Given the description of an element on the screen output the (x, y) to click on. 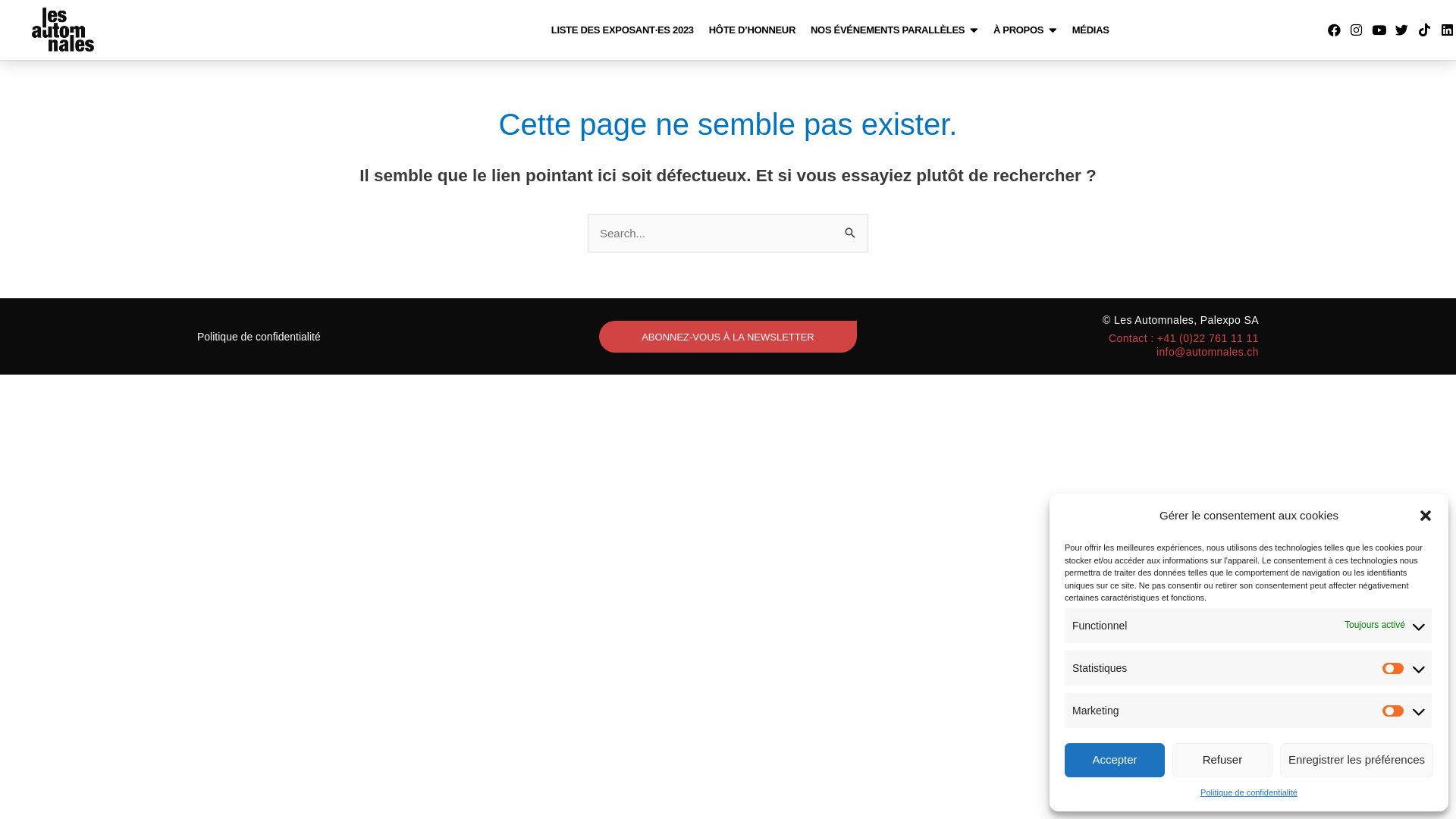
Instagram Element type: text (1356, 30)
Contact : +41 (0)22 761 11 11 Element type: text (1183, 338)
Facebook Element type: text (1333, 30)
info@automnales.ch Element type: text (1207, 351)
Accepter Element type: text (1114, 760)
Rechercher Element type: text (851, 228)
Tiktok Element type: text (1424, 30)
Twitter Element type: text (1402, 30)
Refuser Element type: text (1222, 760)
Youtube Element type: text (1379, 30)
